Given the description of an element on the screen output the (x, y) to click on. 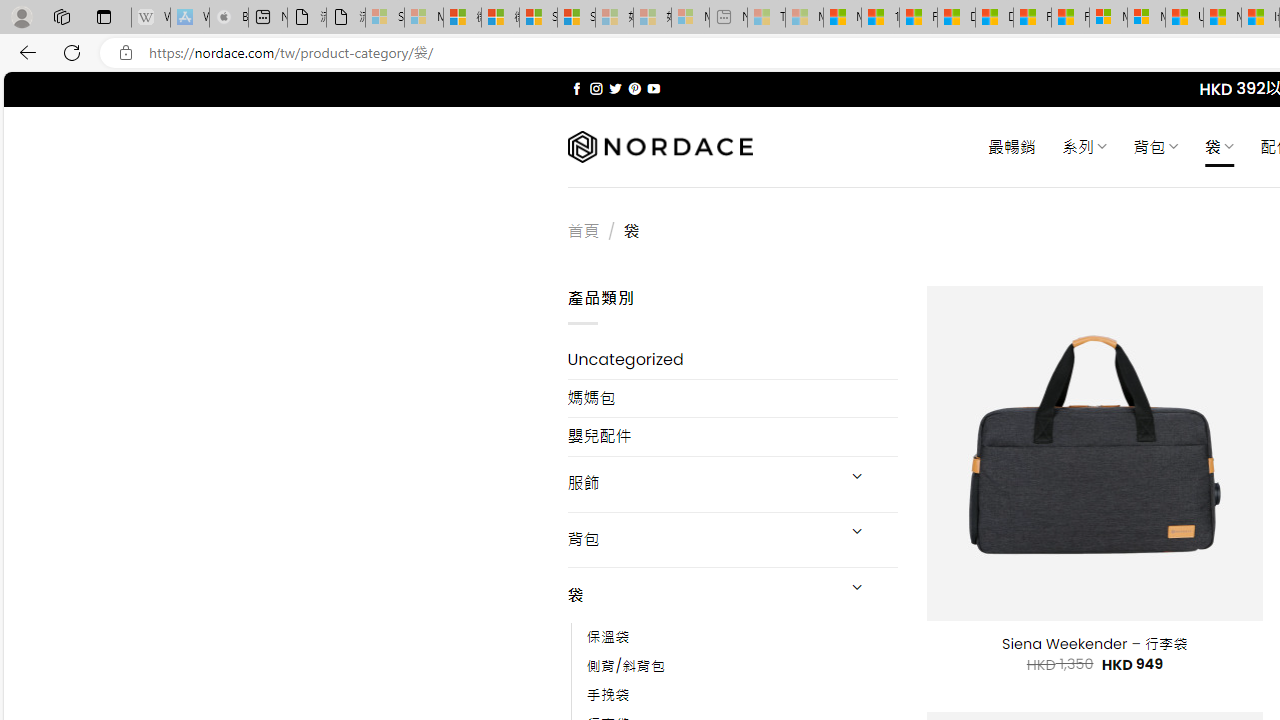
Foo BAR | Trusted Community Engagement and Contributions (1070, 17)
Marine life - MSN - Sleeping (804, 17)
Uncategorized (732, 359)
Food and Drink - MSN (917, 17)
Buy iPad - Apple - Sleeping (228, 17)
